Given the description of an element on the screen output the (x, y) to click on. 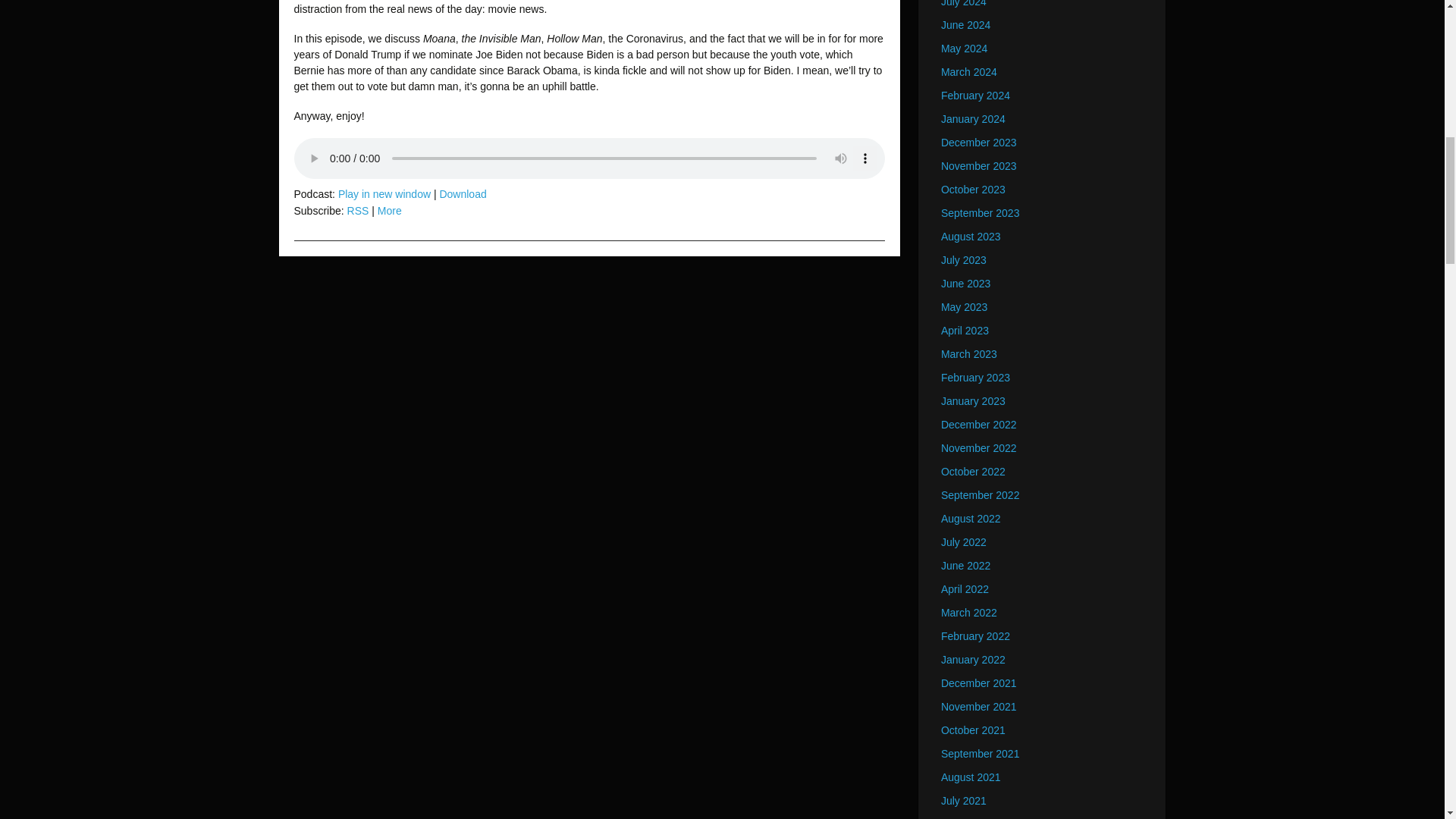
More (389, 210)
July 2024 (963, 3)
Play in new window (383, 193)
June 2024 (965, 24)
RSS (358, 210)
Play in new window (383, 193)
Download (462, 193)
More (389, 210)
Download (462, 193)
Subscribe via RSS (358, 210)
